Given the description of an element on the screen output the (x, y) to click on. 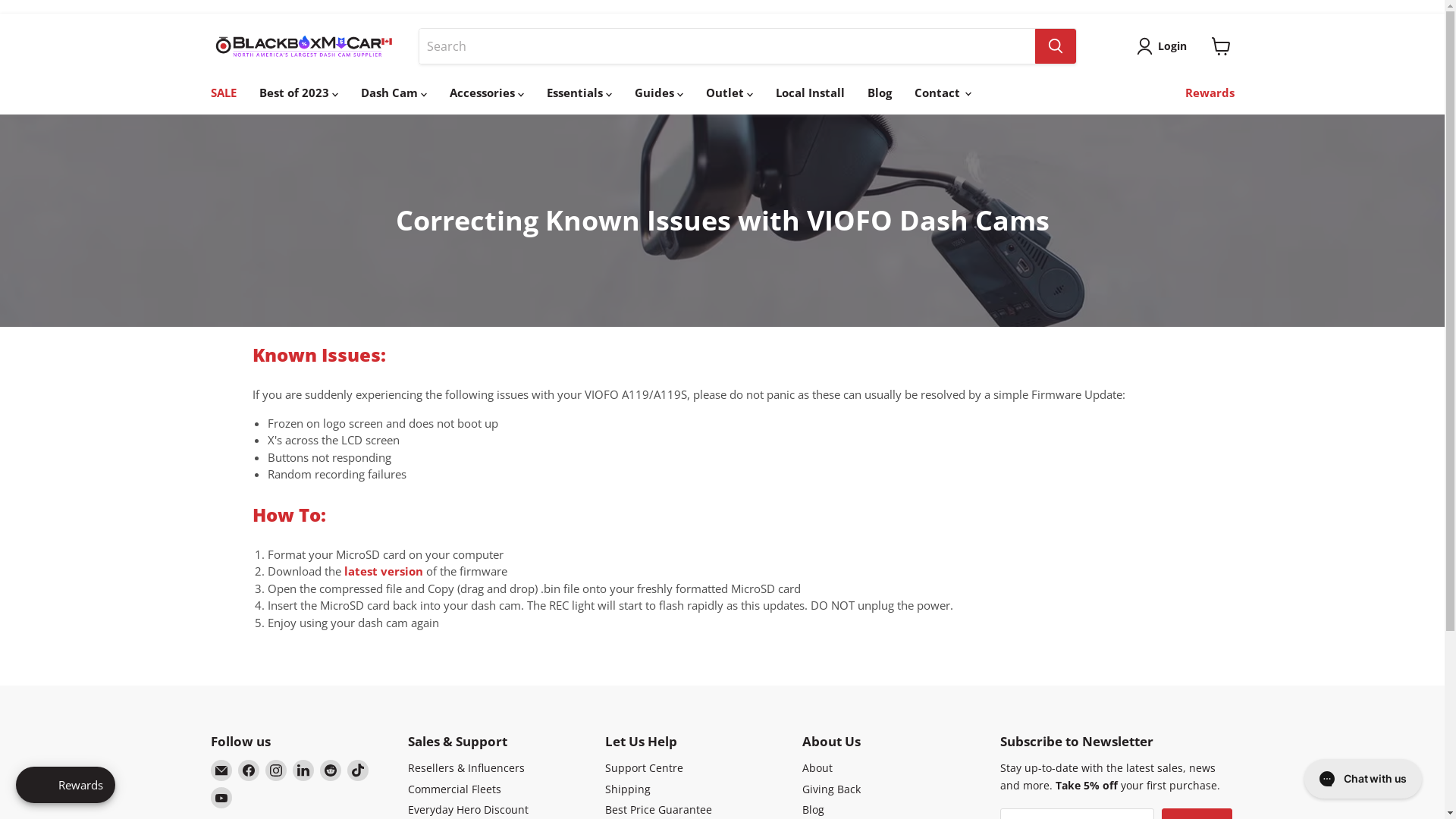
Rewards Element type: text (1208, 92)
View cart Element type: text (1221, 45)
Best Price Guarantee Element type: text (658, 809)
Local Install Element type: text (810, 92)
Email BlackboxMyCar Canada Element type: text (221, 770)
Blog Element type: text (878, 92)
Resellers & Influencers Element type: text (465, 767)
Gorgias live chat messenger Element type: hover (1362, 778)
SALE Element type: text (222, 92)
Commercial Fleets Element type: text (454, 788)
Find us on Reddit Element type: text (330, 770)
Blog Element type: text (813, 809)
Giving Back Element type: text (831, 788)
latest version Element type: text (383, 570)
Login Element type: text (1164, 46)
Everyday Hero Discount Element type: text (467, 809)
Find us on Facebook Element type: text (248, 770)
About Element type: text (817, 767)
Support Centre Element type: text (644, 767)
Find us on TikTok Element type: text (357, 770)
Find us on LinkedIn Element type: text (302, 770)
Shipping Element type: text (627, 788)
Find us on YouTube Element type: text (221, 797)
Find us on Instagram Element type: text (275, 770)
